Given the description of an element on the screen output the (x, y) to click on. 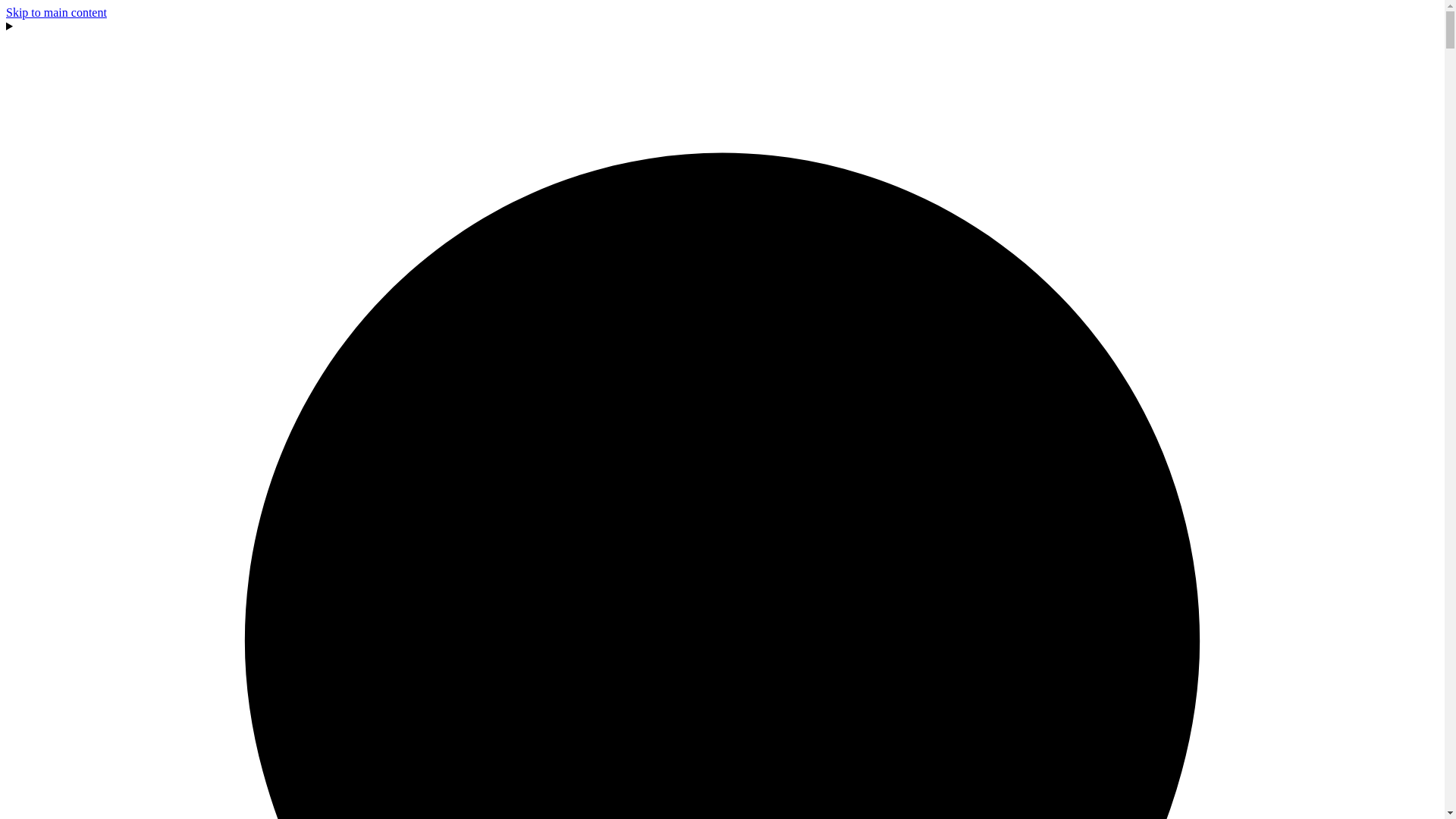
Skip to main content (55, 11)
